Given the description of an element on the screen output the (x, y) to click on. 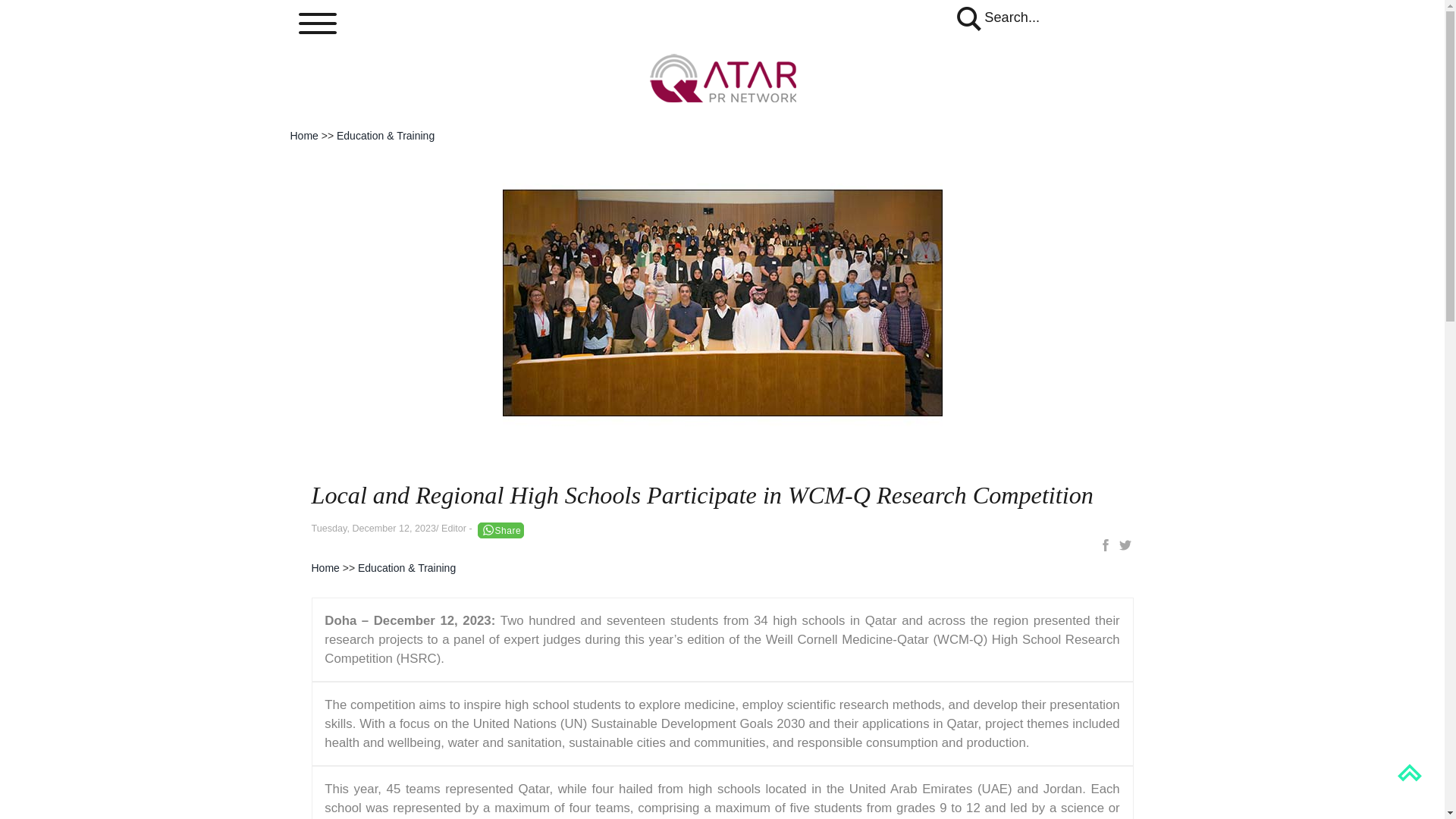
Home (303, 135)
Home (325, 567)
Share (500, 530)
Search... (997, 17)
